Given the description of an element on the screen output the (x, y) to click on. 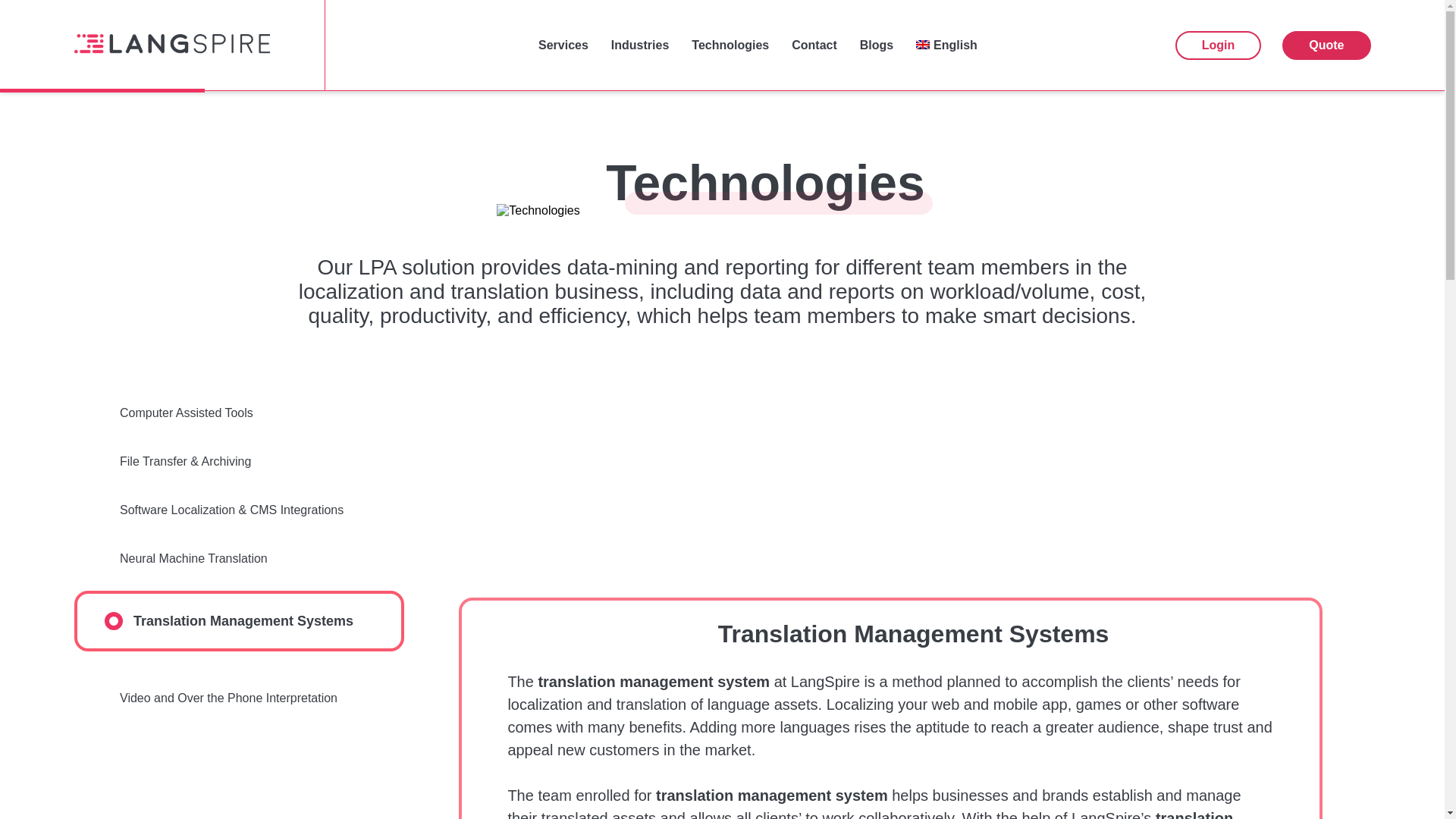
Translation Management Systems (239, 620)
Neural Machine Translation (239, 558)
Blogs (876, 45)
Services (563, 45)
Technologies (729, 45)
Contact (814, 45)
English (945, 45)
Video and Over the Phone Interpretation (239, 697)
Industries (639, 45)
English (945, 45)
